Given the description of an element on the screen output the (x, y) to click on. 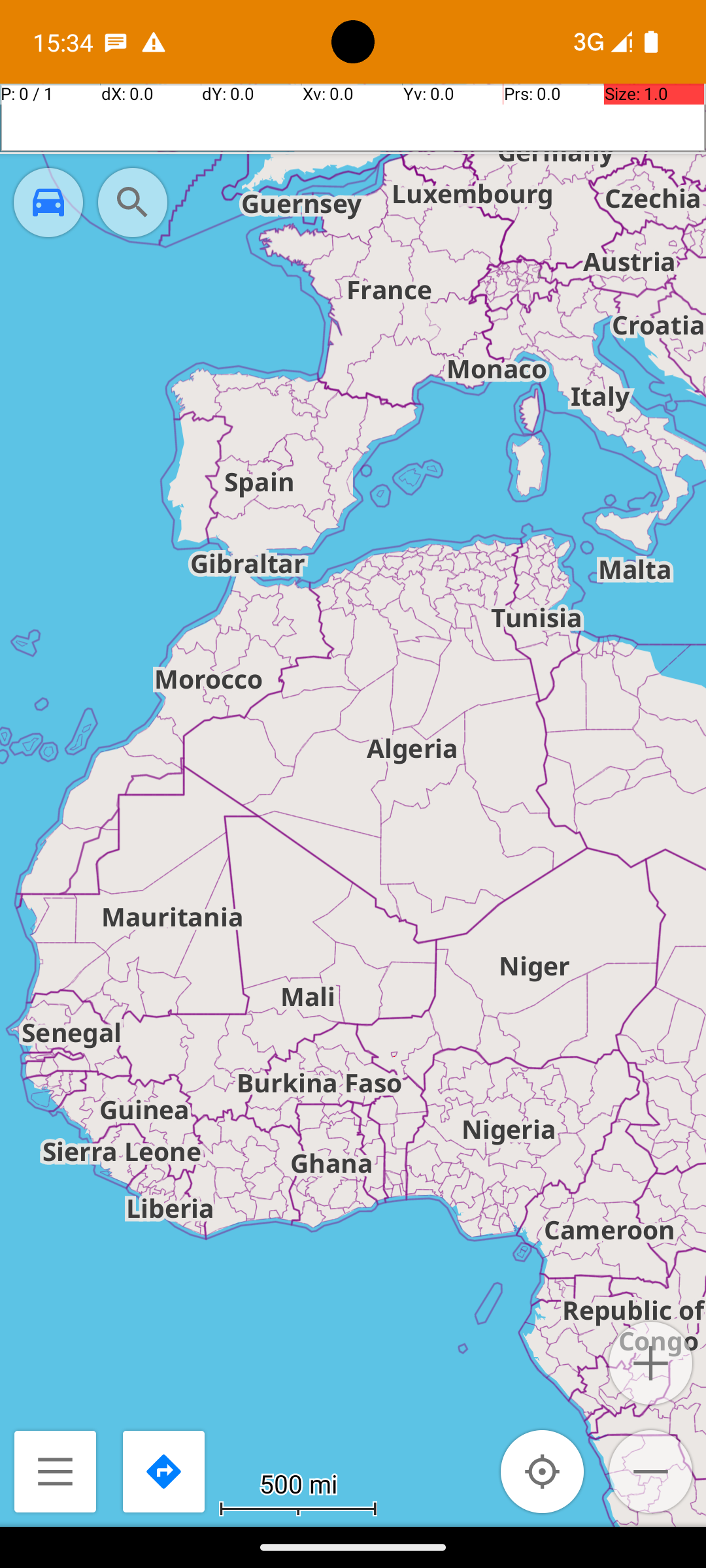
Map Element type: android.view.View (353, 763)
Configure map Element type: android.widget.ImageButton (48, 202)
Back to menu Element type: android.widget.ImageButton (55, 1471)
Route Element type: android.widget.ImageButton (163, 1471)
500 mi Element type: android.widget.TextView (297, 1483)
Position not yet known. Element type: android.widget.ImageButton (542, 1471)
Zoom in Element type: android.widget.ImageButton (650, 1362)
Zoom out Element type: android.widget.ImageButton (650, 1471)
